Given the description of an element on the screen output the (x, y) to click on. 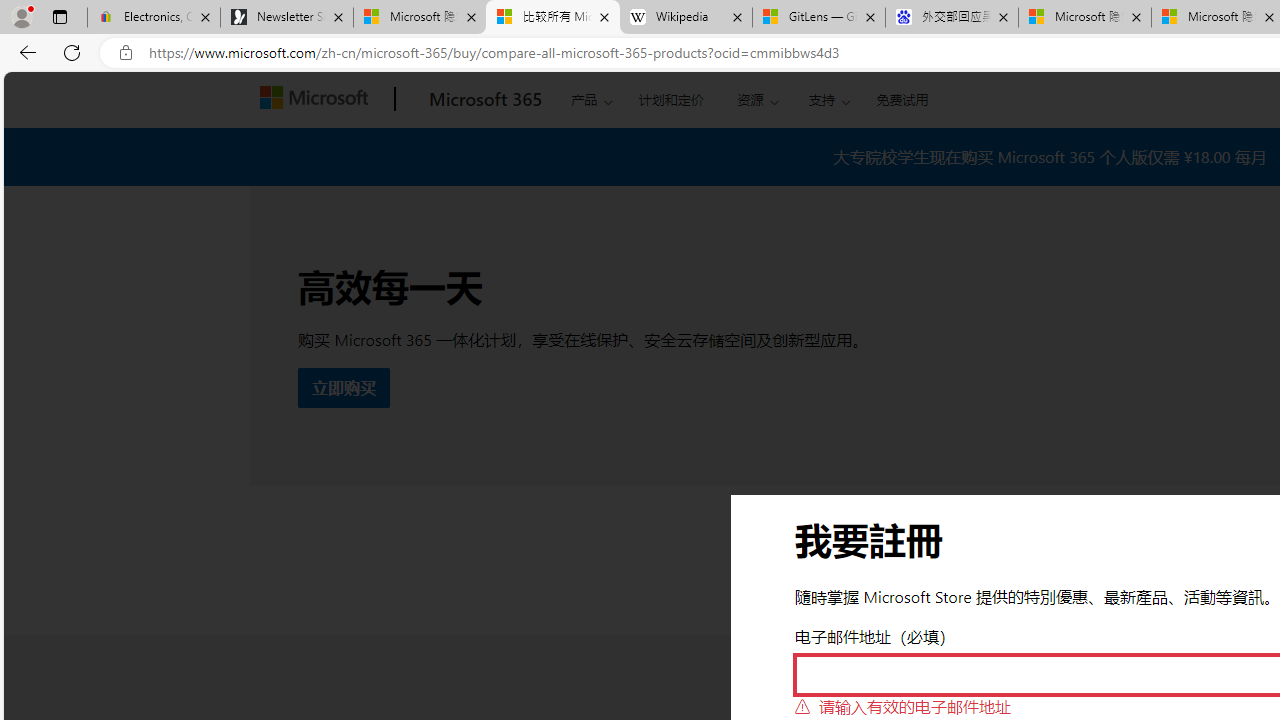
Newsletter Sign Up (287, 17)
Wikipedia (685, 17)
